Given the description of an element on the screen output the (x, y) to click on. 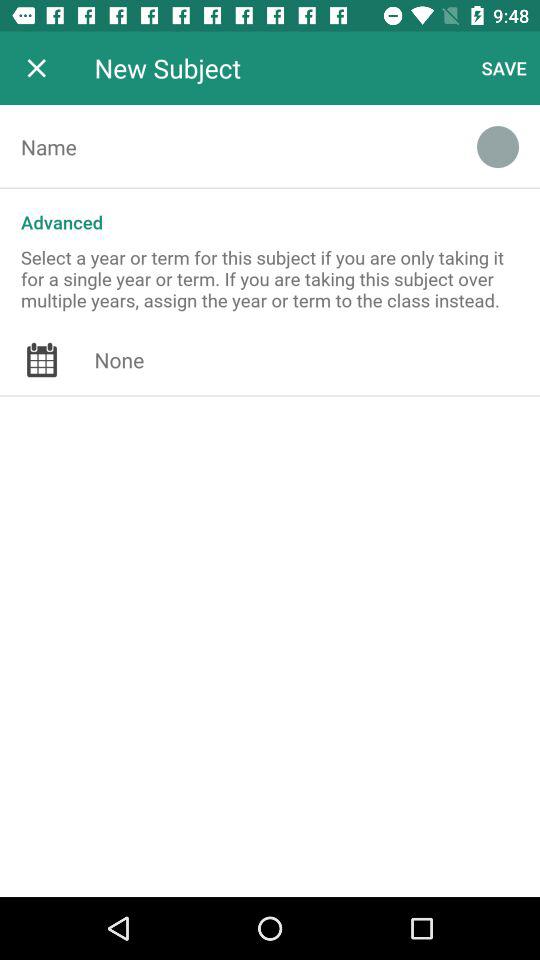
open the icon above the advanced icon (498, 147)
